Given the description of an element on the screen output the (x, y) to click on. 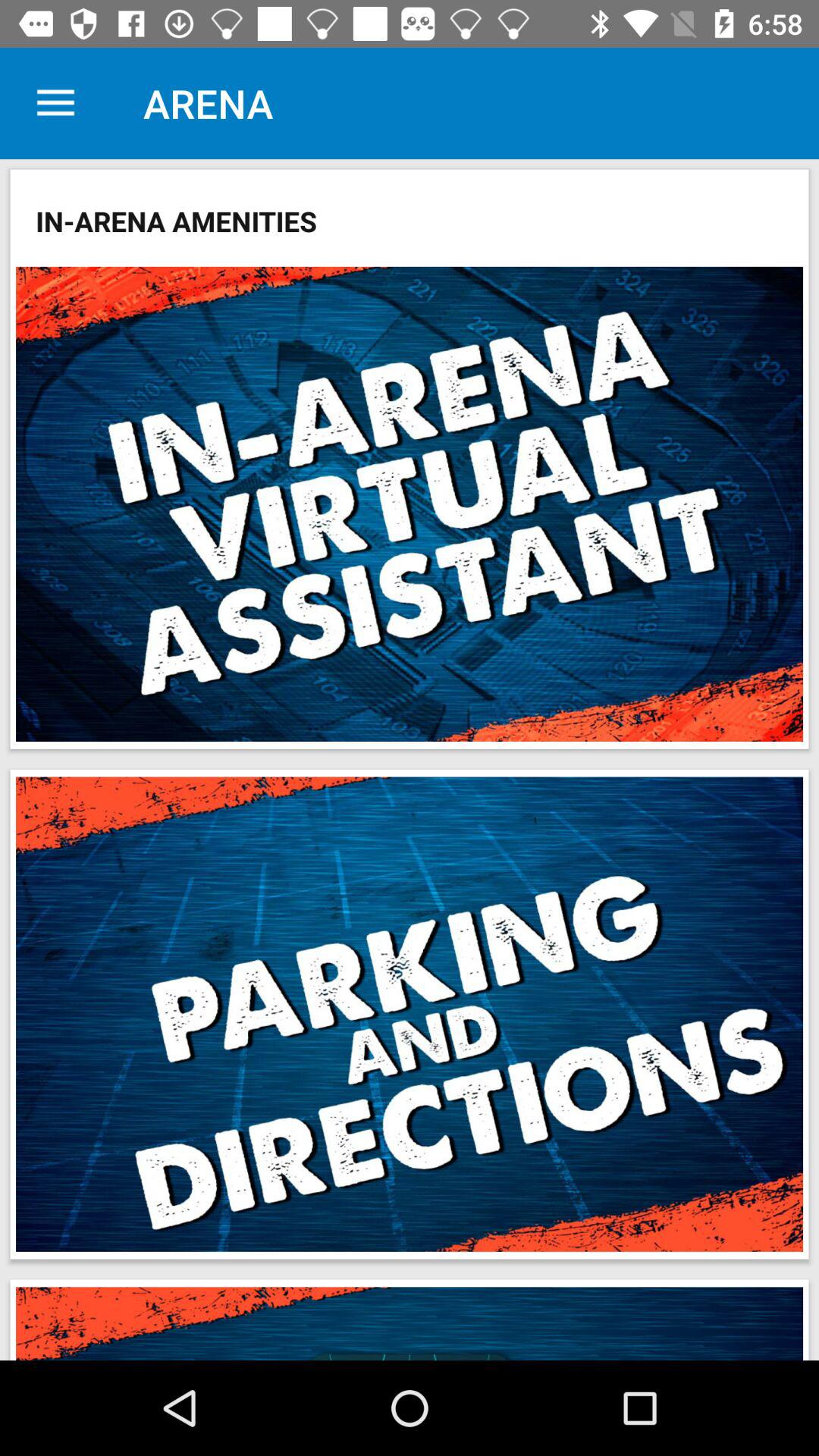
turn on the item above in-arena amenities (55, 103)
